Given the description of an element on the screen output the (x, y) to click on. 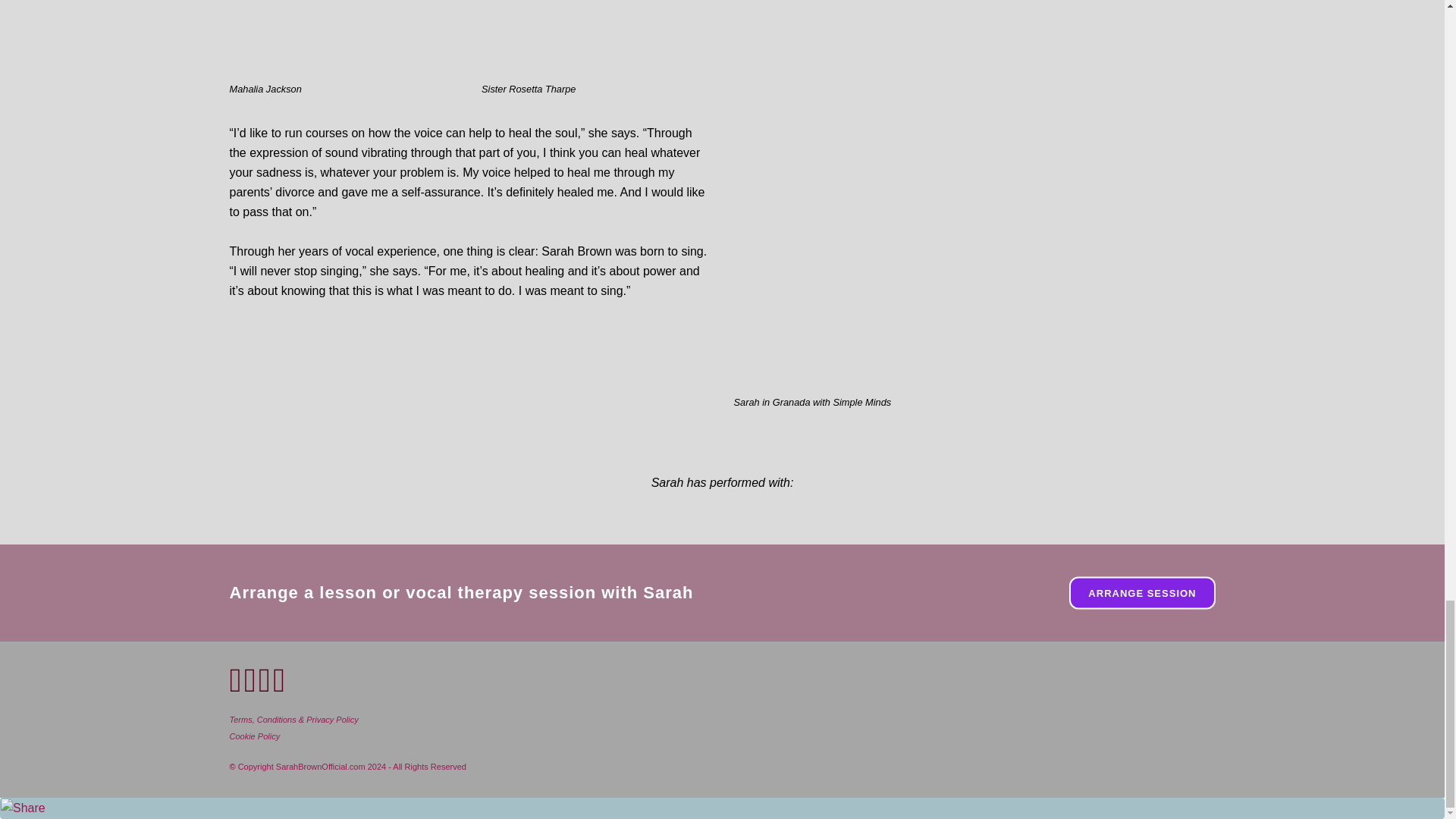
Cookie Policy (253, 736)
